Given the description of an element on the screen output the (x, y) to click on. 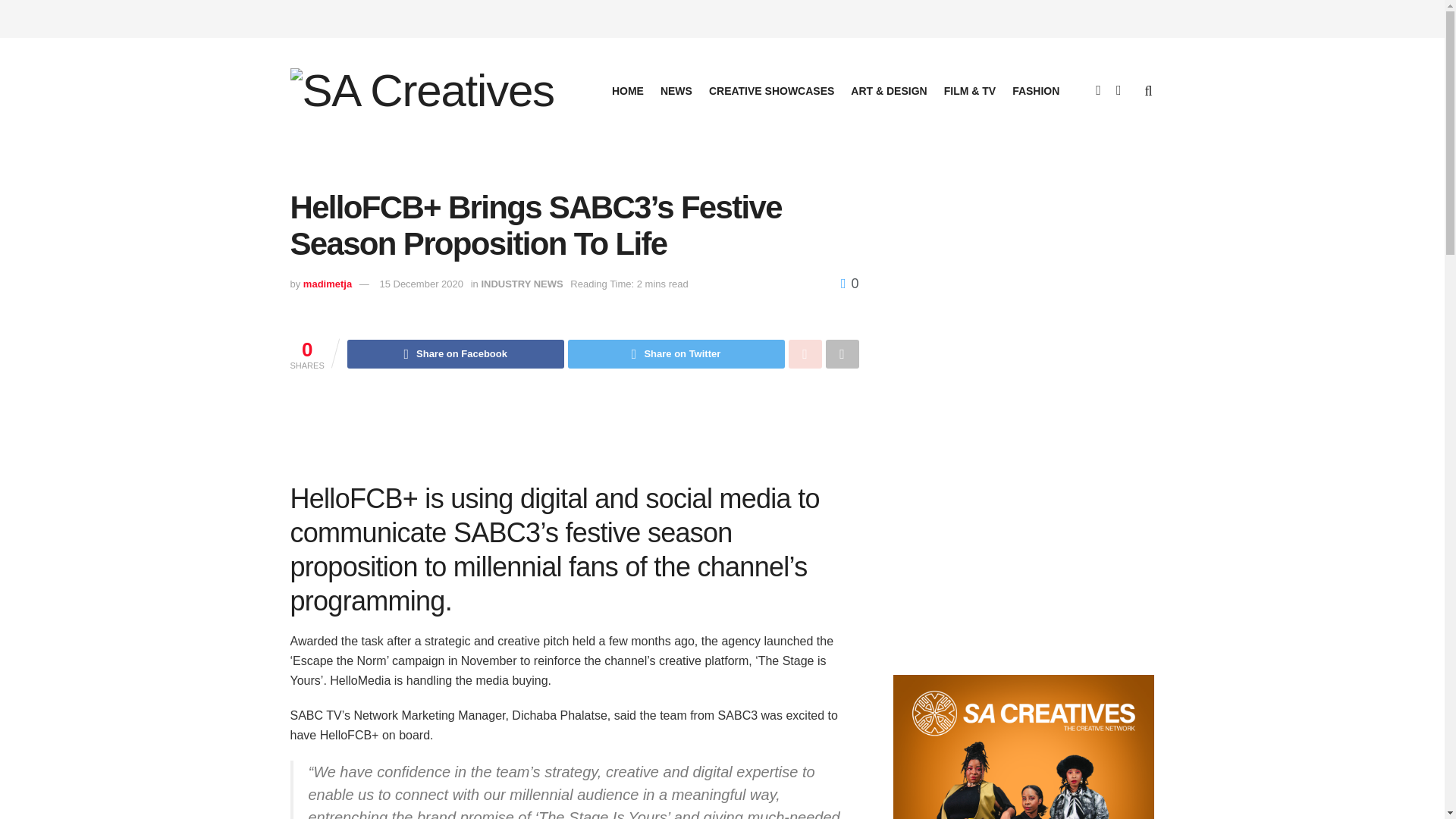
INDUSTRY NEWS (521, 283)
15 December 2020 (420, 283)
Share on Facebook (455, 353)
CREATIVE SHOWCASES (771, 90)
FASHION (1035, 90)
madimetja (327, 283)
Share on Twitter (675, 353)
0 (850, 283)
NEWS (677, 90)
HOME (627, 90)
